Given the description of an element on the screen output the (x, y) to click on. 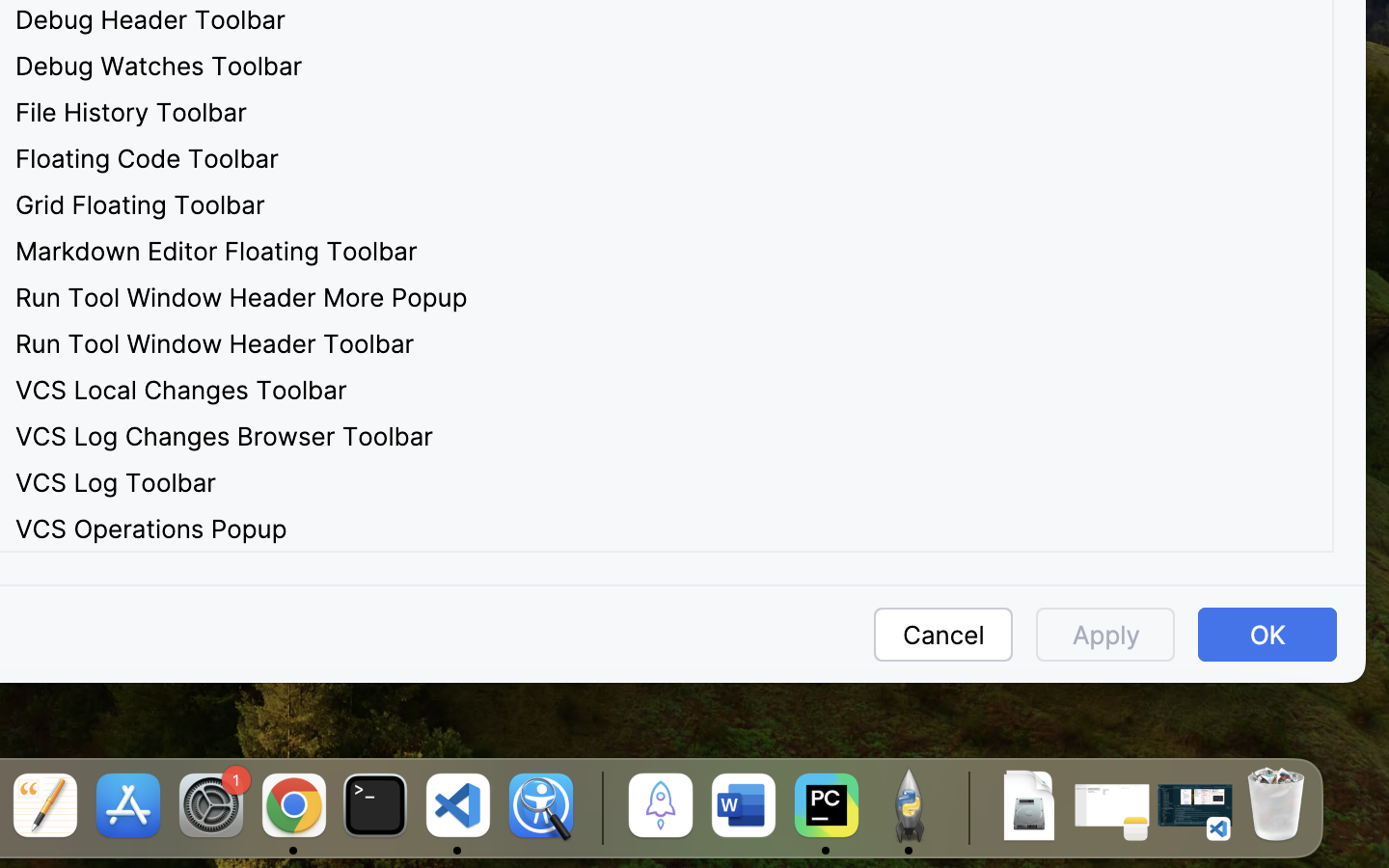
0.4285714328289032 Element type: AXDockItem (598, 807)
